Given the description of an element on the screen output the (x, y) to click on. 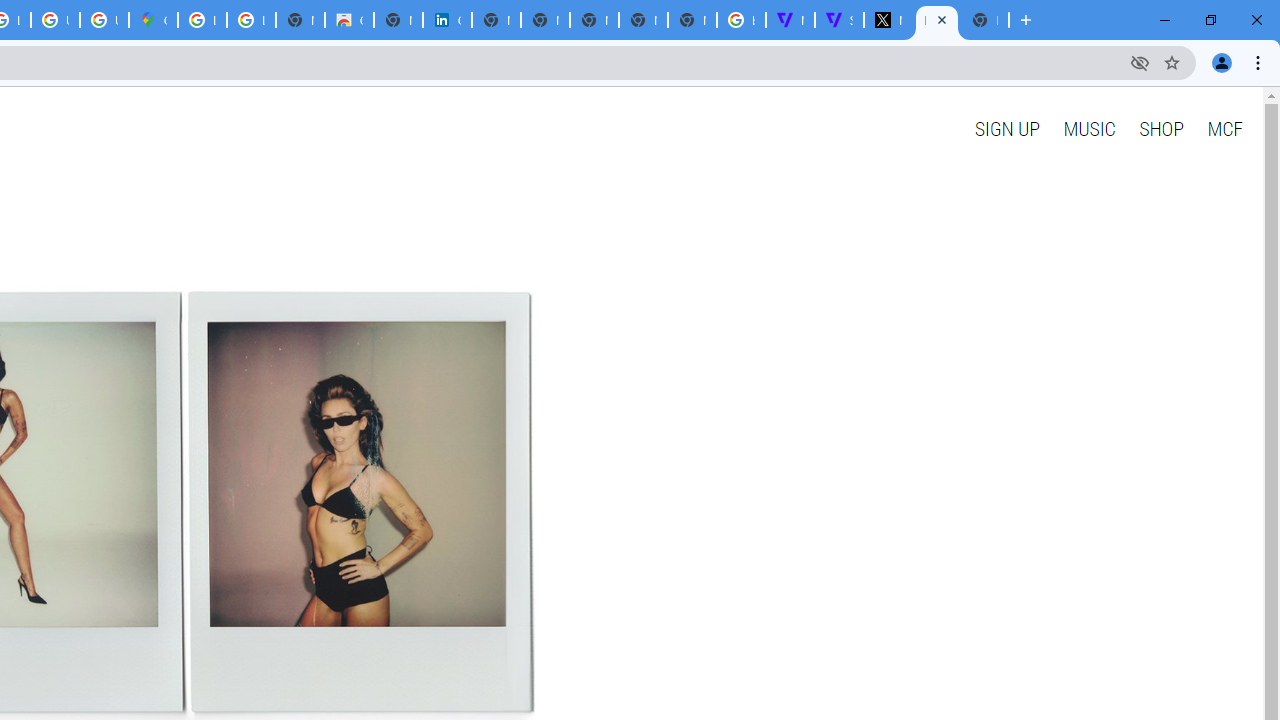
SIGN UP (1006, 128)
Streaming - The Verge (839, 20)
Cookie Policy | LinkedIn (447, 20)
MCF (1224, 128)
Google Maps (153, 20)
